Given the description of an element on the screen output the (x, y) to click on. 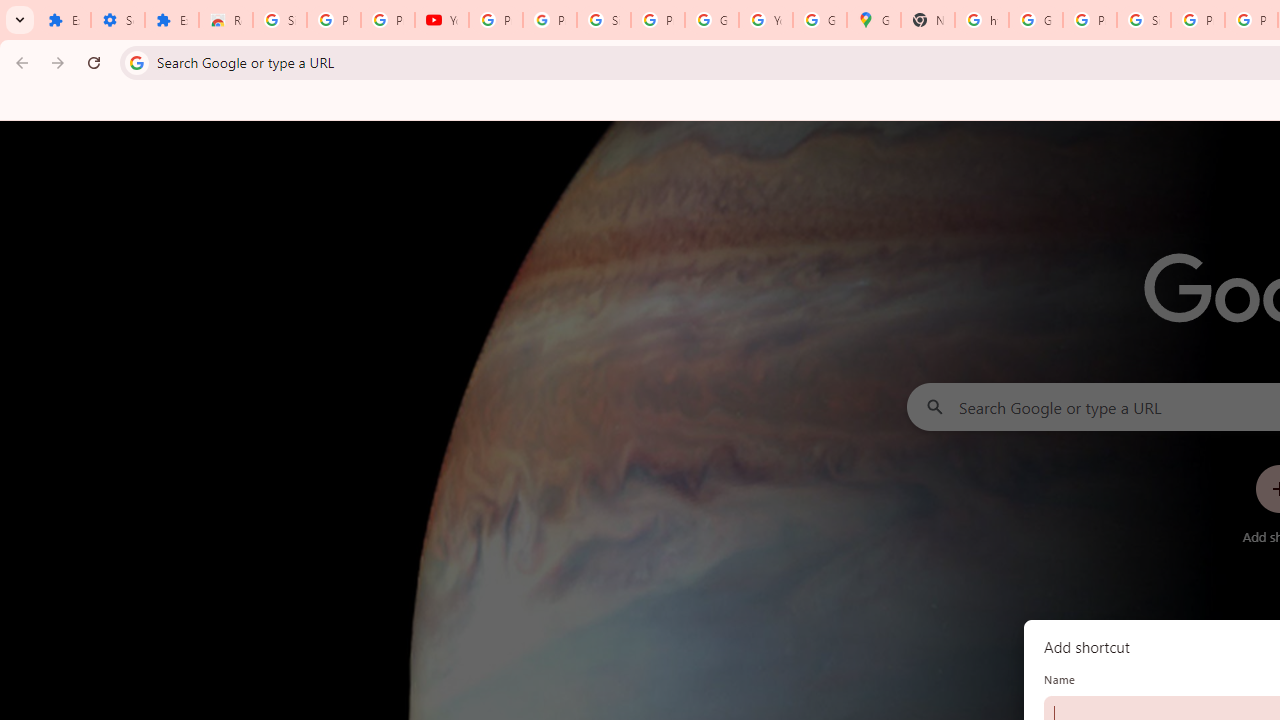
https://scholar.google.com/ (981, 20)
Google Maps (874, 20)
New Tab (927, 20)
Sign in - Google Accounts (280, 20)
Google Account (711, 20)
Settings (117, 20)
